Given the description of an element on the screen output the (x, y) to click on. 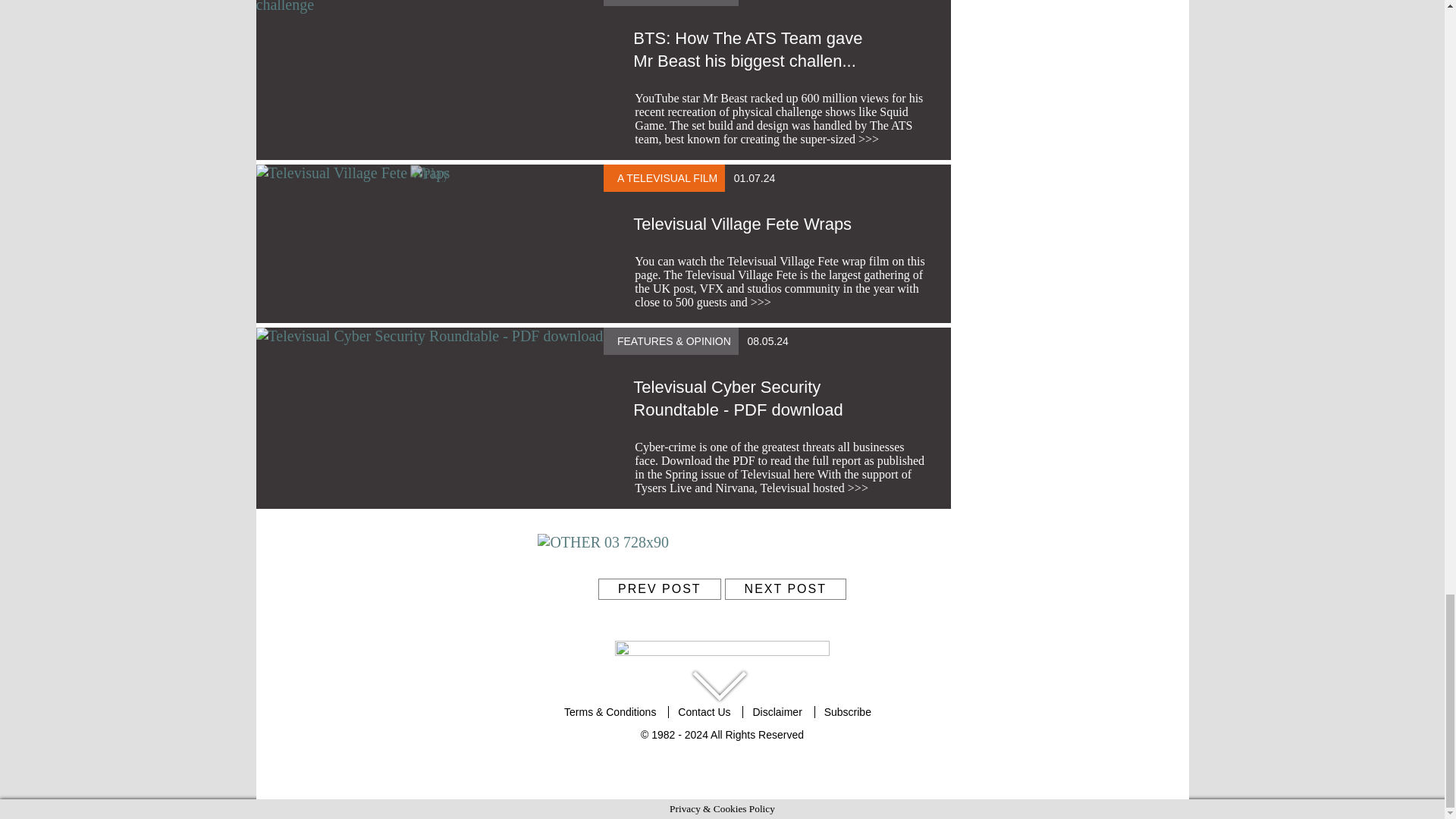
televisual-logo (721, 653)
